Given the description of an element on the screen output the (x, y) to click on. 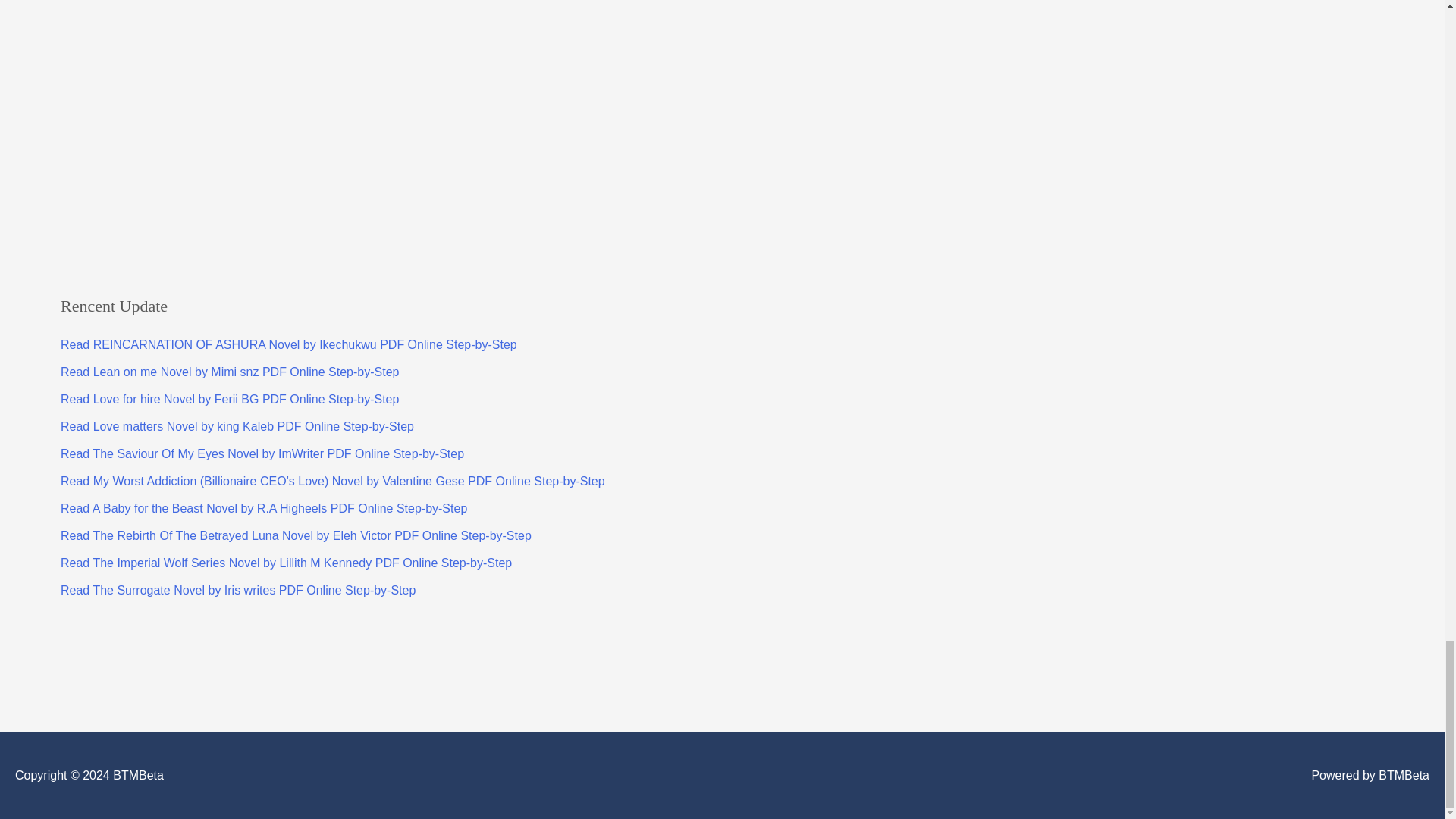
Read Lean on me Novel by Mimi snz PDF Online Step-by-Step (229, 371)
